Given the description of an element on the screen output the (x, y) to click on. 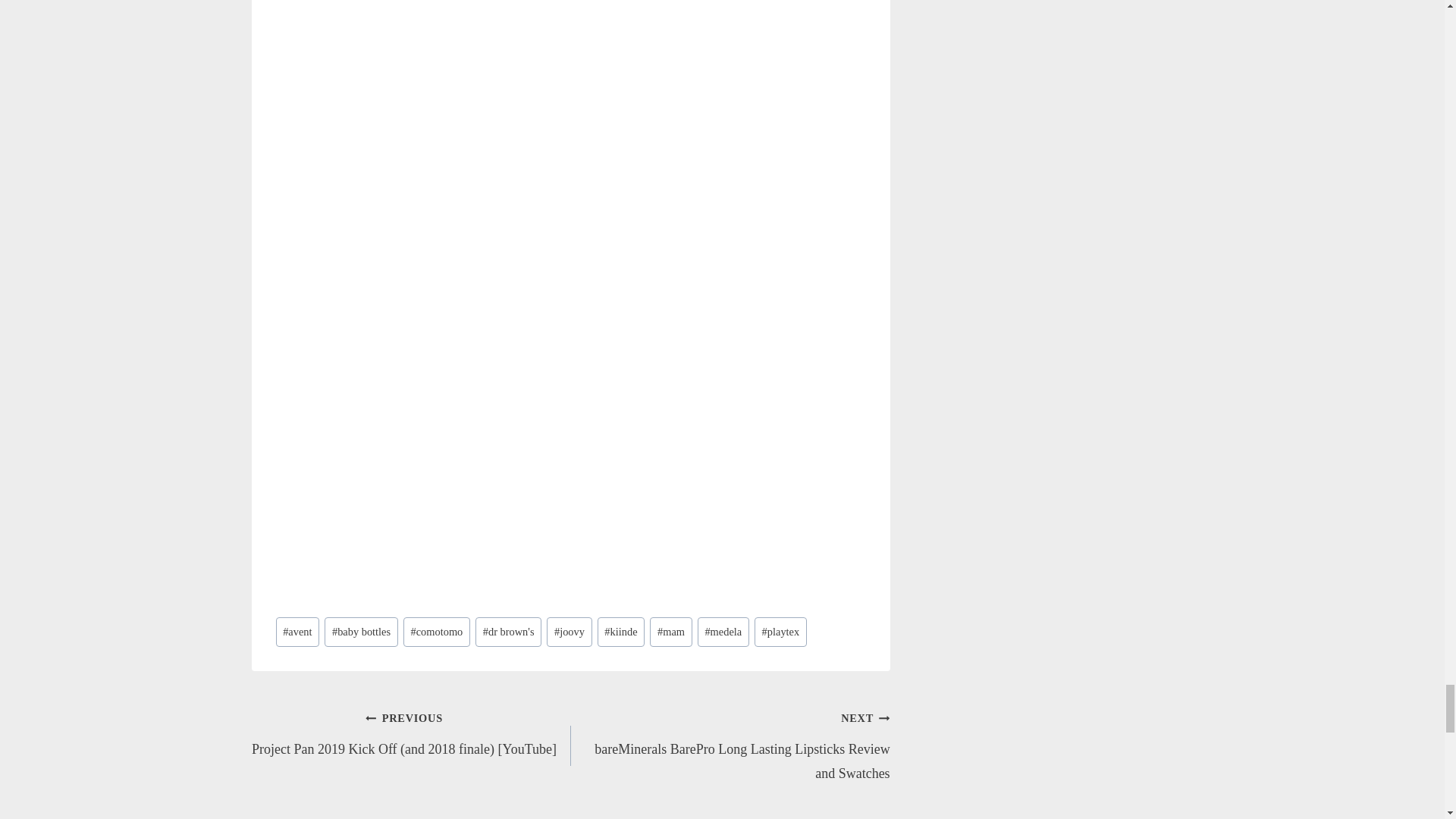
avent (298, 632)
medela (723, 632)
kiinde (620, 632)
playtex (780, 632)
dr brown's (508, 632)
comotomo (436, 632)
mam (670, 632)
joovy (569, 632)
baby bottles (360, 632)
